Given the description of an element on the screen output the (x, y) to click on. 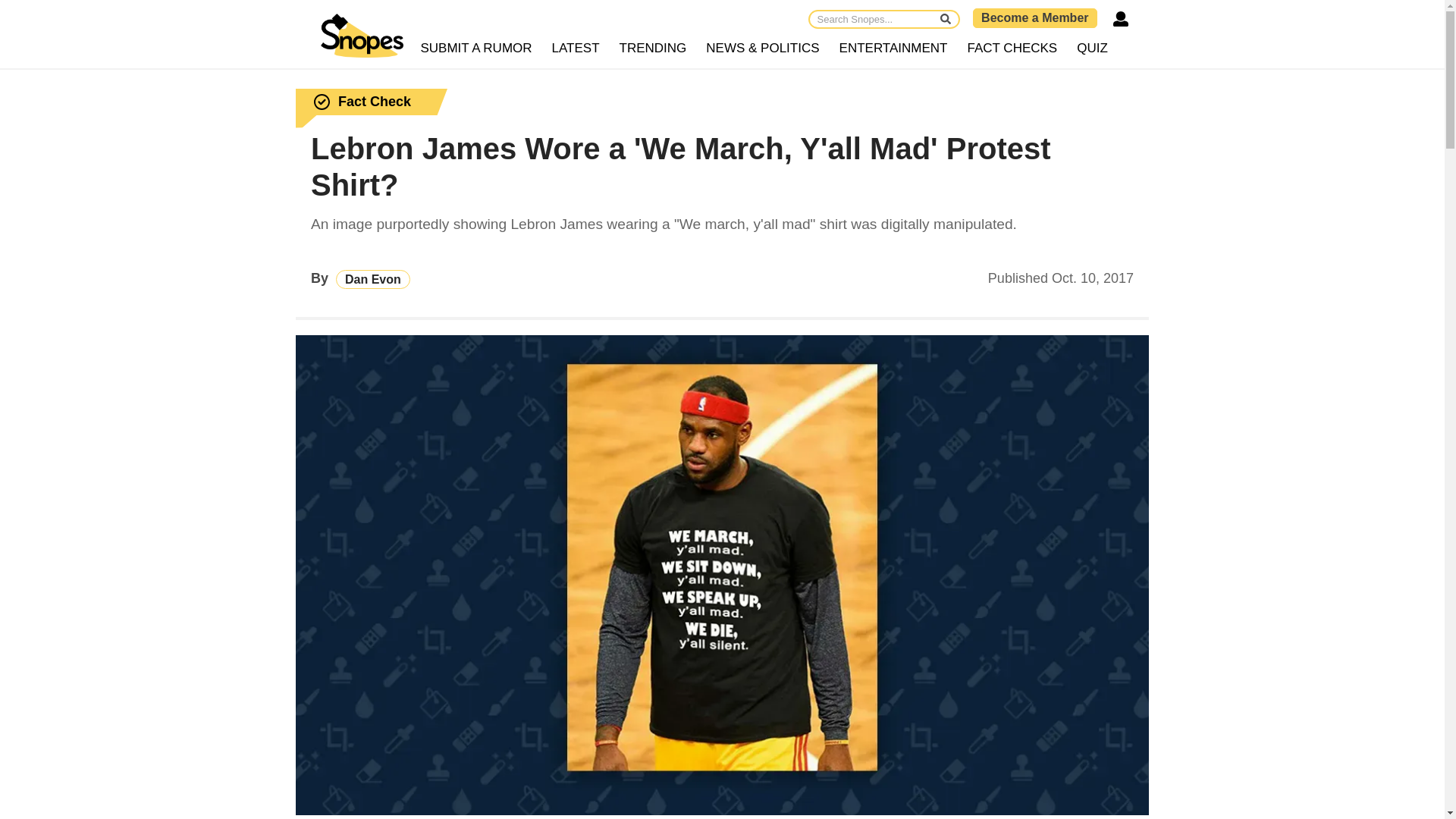
QUIZ (1092, 47)
LATEST (576, 47)
Dan Evon (373, 279)
SUBMIT A RUMOR (475, 47)
TRENDING (653, 47)
Become a Member (1034, 17)
ENTERTAINMENT (893, 47)
FACT CHECKS (1011, 47)
